Given the description of an element on the screen output the (x, y) to click on. 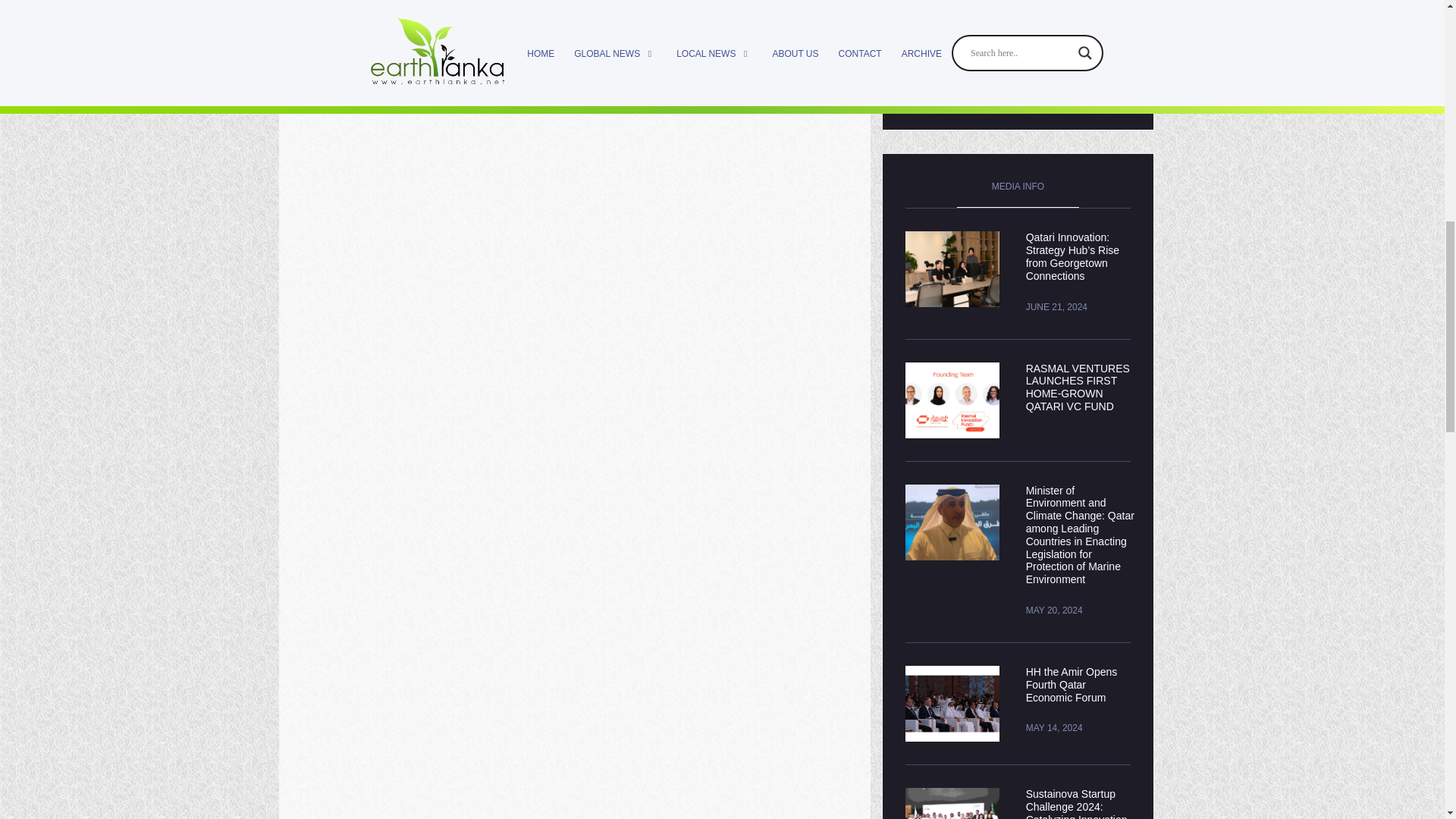
Solar Activity (347, 42)
Solar Activity (347, 42)
Elephant Census (787, 42)
Elephant Census (787, 42)
